Given the description of an element on the screen output the (x, y) to click on. 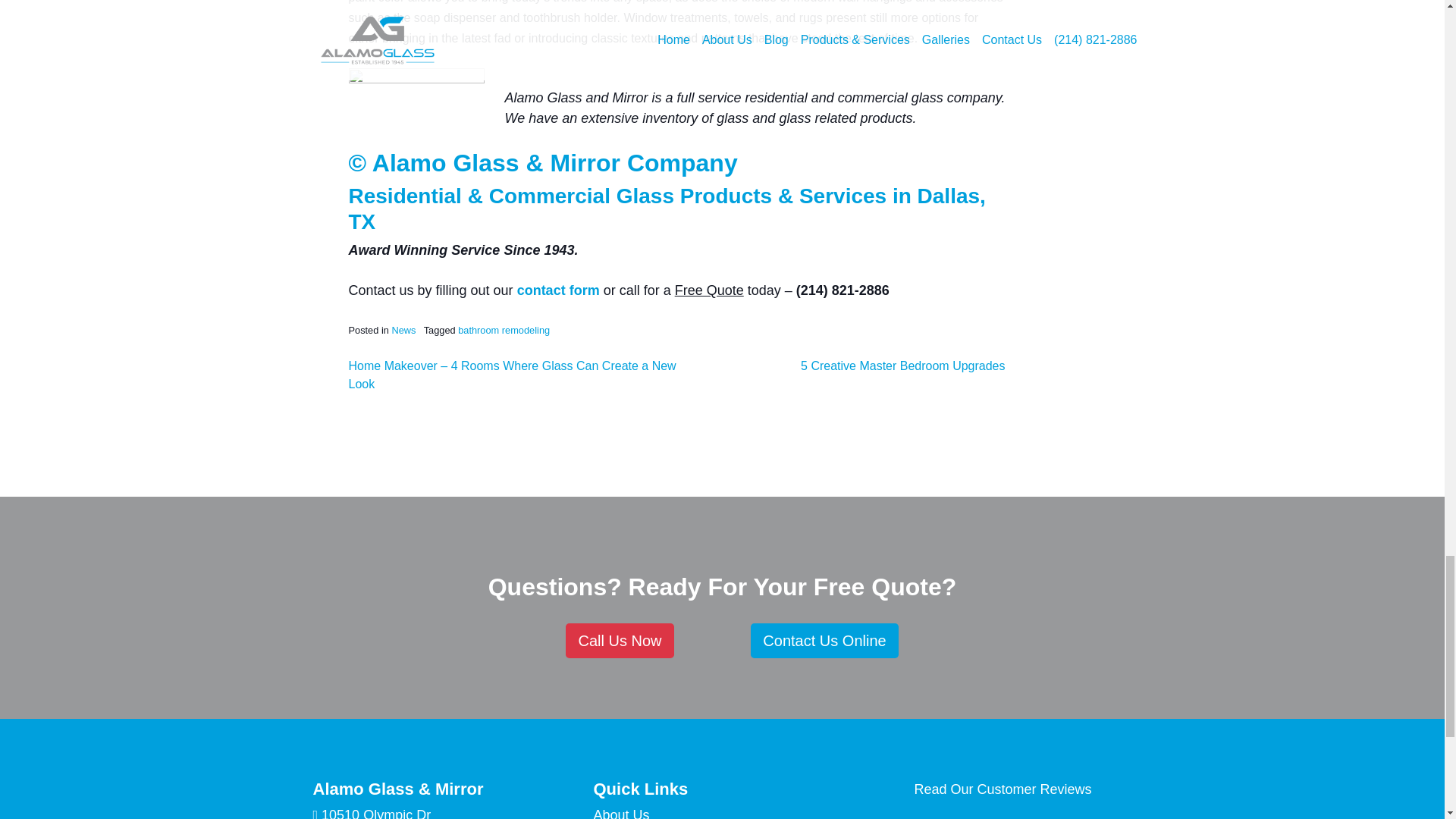
News (402, 329)
bathroom remodeling (504, 329)
5 Creative Master Bedroom Upgrades (902, 365)
contact form (557, 290)
